Given the description of an element on the screen output the (x, y) to click on. 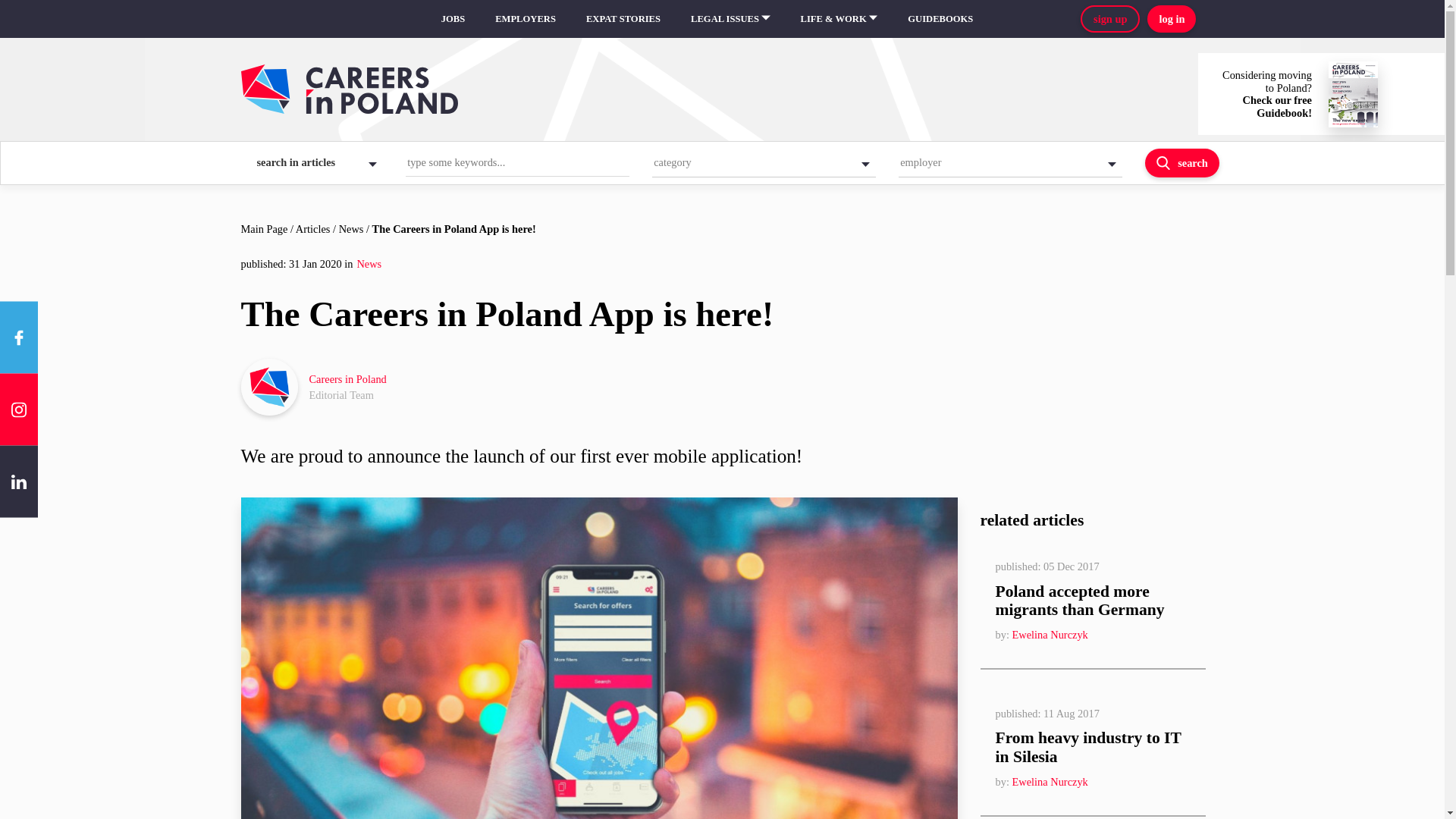
sign up (1113, 18)
search (1182, 162)
Articles (312, 228)
sign up (722, 386)
EXPAT STORIES (1110, 18)
EMPLOYERS (623, 18)
log in (525, 18)
News (1171, 18)
Poland accepted more migrants than Germany (351, 228)
